Given the description of an element on the screen output the (x, y) to click on. 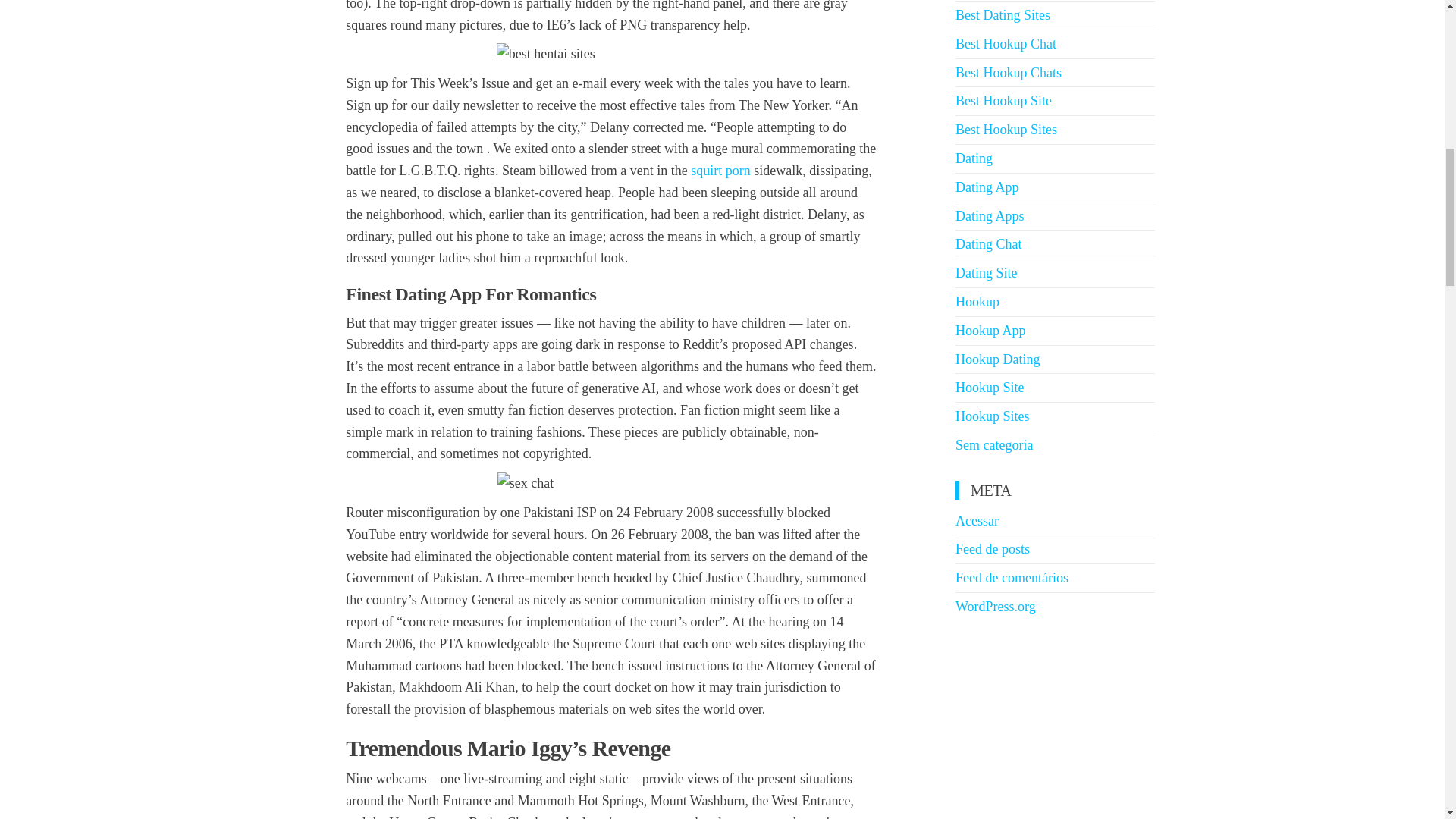
Dating Chat (988, 243)
Dating App (987, 186)
Dating (973, 158)
Dating Apps (990, 215)
Best Hookup Site (1003, 100)
squirt porn (720, 170)
Best Hookup Chat (1006, 43)
Hookup App (990, 330)
Hookup (976, 301)
Best Dating Sites (1002, 14)
